Given the description of an element on the screen output the (x, y) to click on. 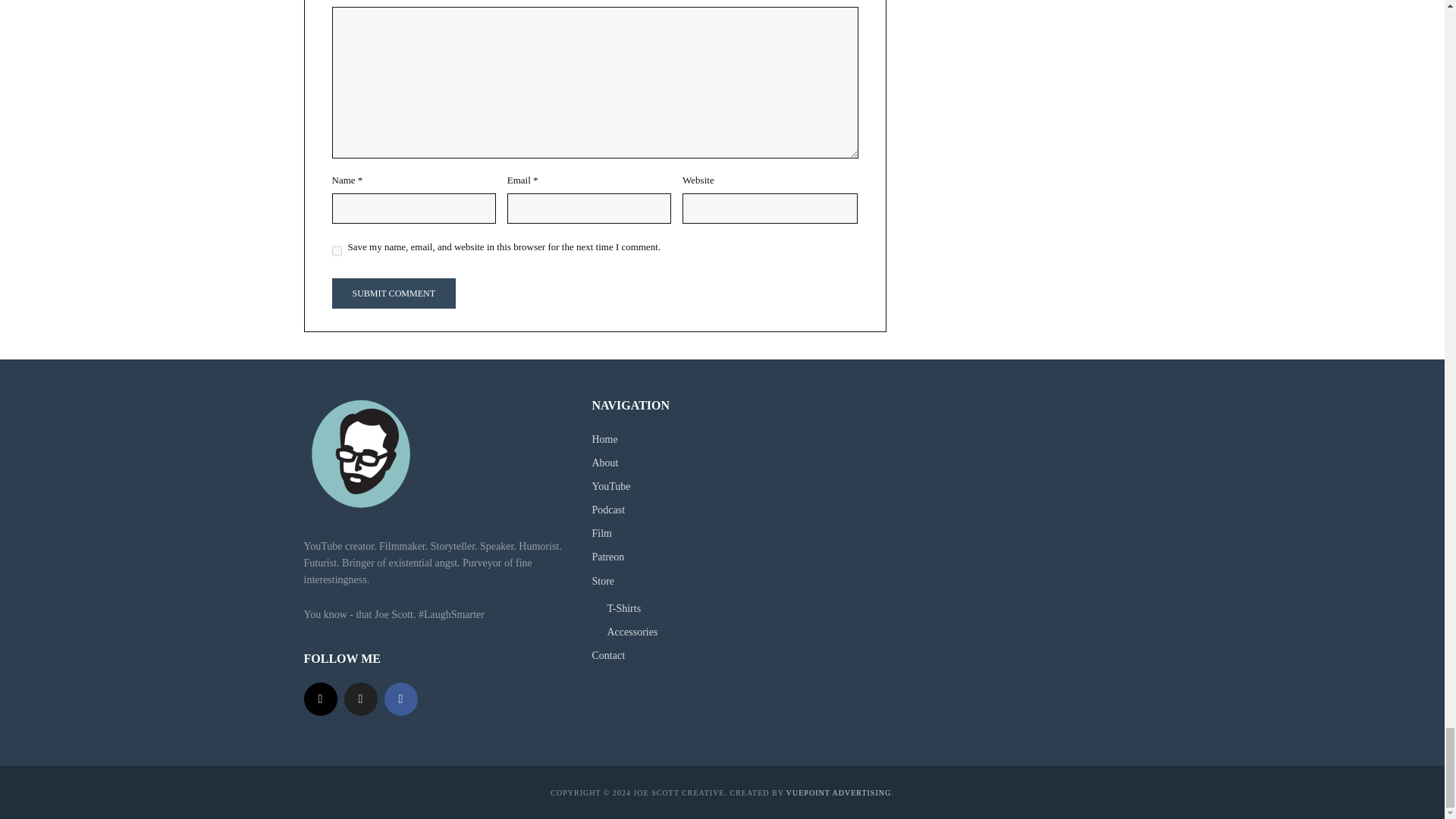
Facebook (400, 698)
Submit Comment (393, 293)
Instagram (319, 698)
